Given the description of an element on the screen output the (x, y) to click on. 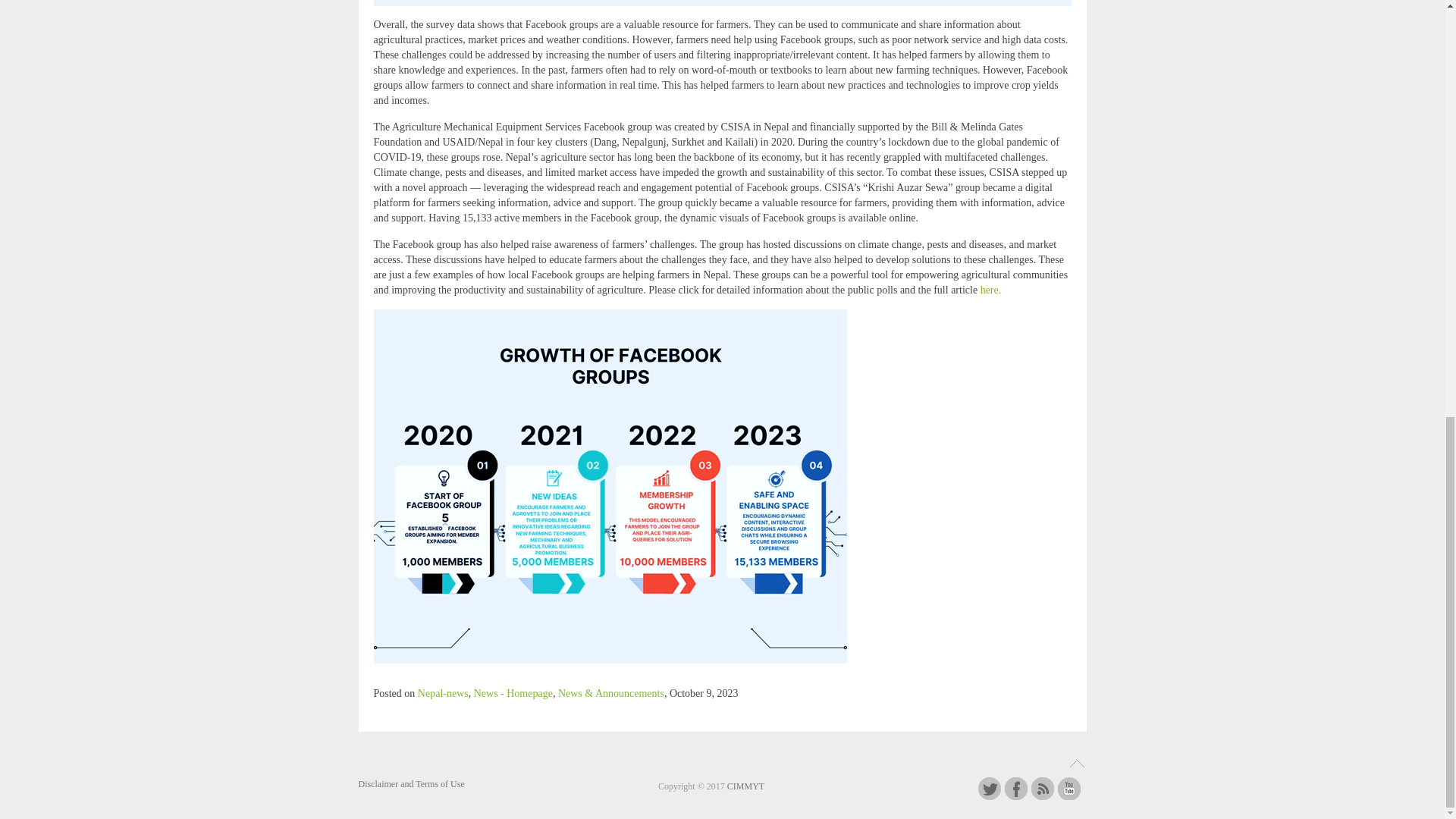
CIMMYT (745, 786)
News - Homepage (513, 693)
RSS (1042, 788)
Twitter (989, 788)
Facebook (1015, 788)
Nepal-news (442, 693)
Disclaimer and Terms of Use (411, 784)
Disclaimer and Terms of Use (411, 784)
Youtube (1069, 788)
here. (990, 289)
